Given the description of an element on the screen output the (x, y) to click on. 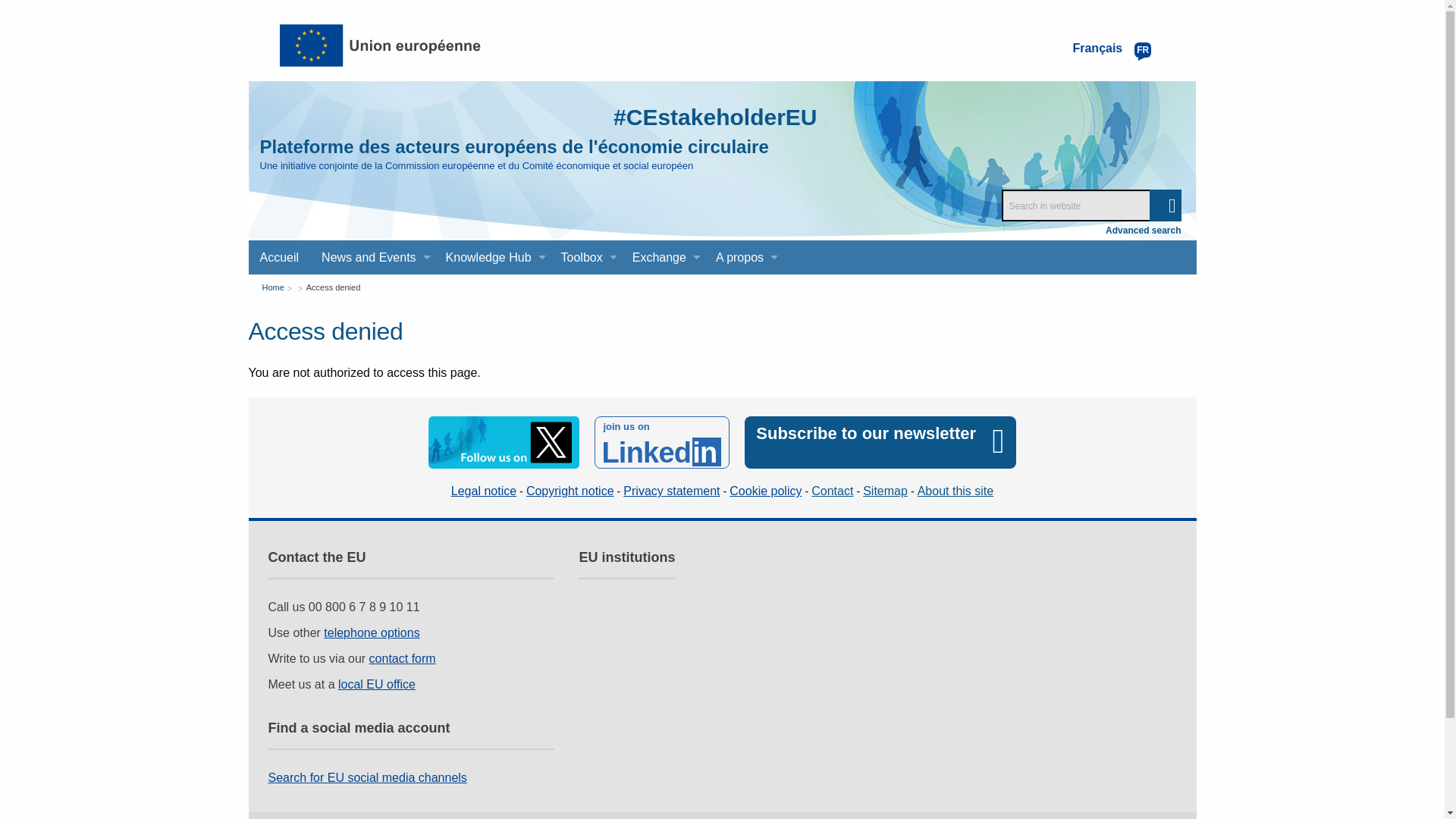
Exchange (662, 257)
Search (1165, 205)
Accueil (279, 257)
Home (513, 146)
News and Events (371, 257)
Search (1165, 205)
Knowledge Hub (491, 257)
search the database (1165, 205)
Accueil (279, 257)
Advanced search (1142, 230)
